Given the description of an element on the screen output the (x, y) to click on. 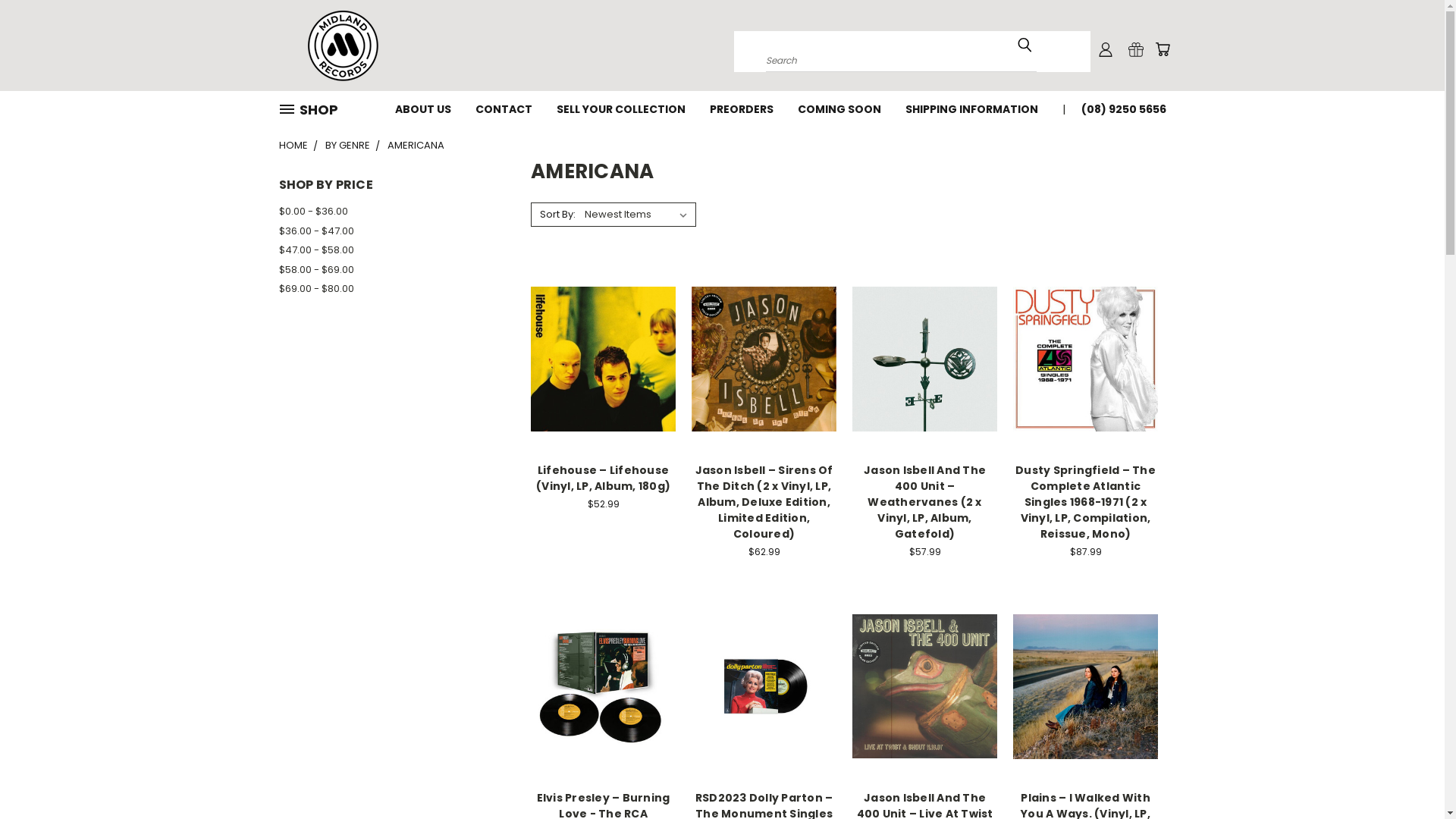
$0.00 - $36.00 Element type: text (385, 211)
Submit Search Element type: hover (1024, 44)
$69.00 - $80.00 Element type: text (385, 288)
PREORDERS Element type: text (741, 108)
SHOP Element type: text (314, 109)
(08) 9250 5656 Element type: text (1117, 108)
MIDLAND RECORDS Element type: hover (342, 45)
COMING SOON Element type: text (839, 108)
User Toolbox Element type: hover (1105, 48)
$58.00 - $69.00 Element type: text (385, 269)
SELL YOUR COLLECTION Element type: text (620, 108)
Gift Certificates Element type: hover (1135, 48)
SHIPPING INFORMATION Element type: text (971, 108)
HOME Element type: text (293, 145)
BY GENRE Element type: text (346, 145)
ABOUT US Element type: text (422, 108)
$36.00 - $47.00 Element type: text (385, 231)
$47.00 - $58.00 Element type: text (385, 250)
Cart Element type: hover (1161, 48)
CONTACT Element type: text (502, 108)
